Given the description of an element on the screen output the (x, y) to click on. 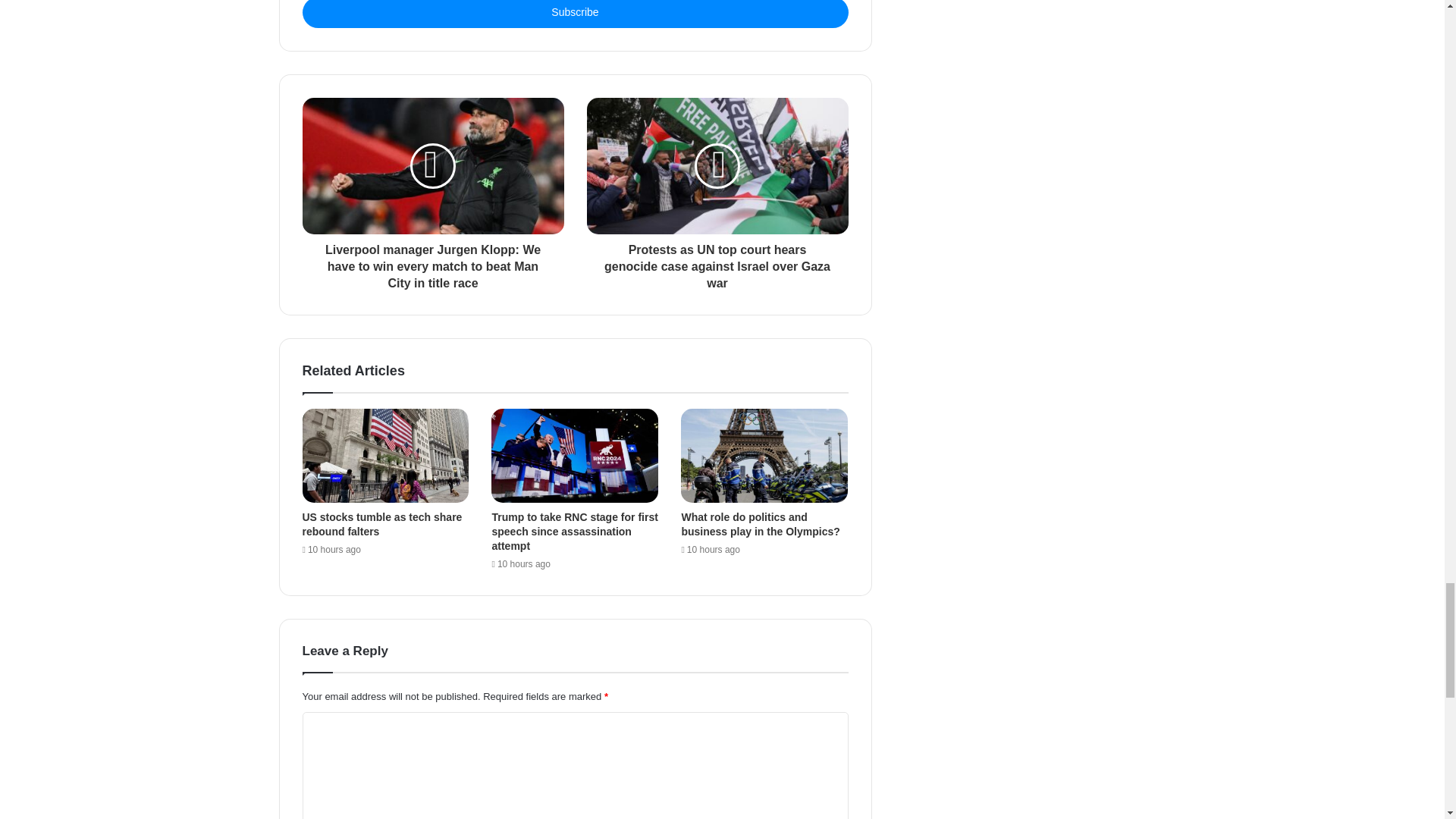
US stocks tumble as tech share rebound falters (381, 524)
Subscribe (574, 13)
Subscribe (574, 13)
